Given the description of an element on the screen output the (x, y) to click on. 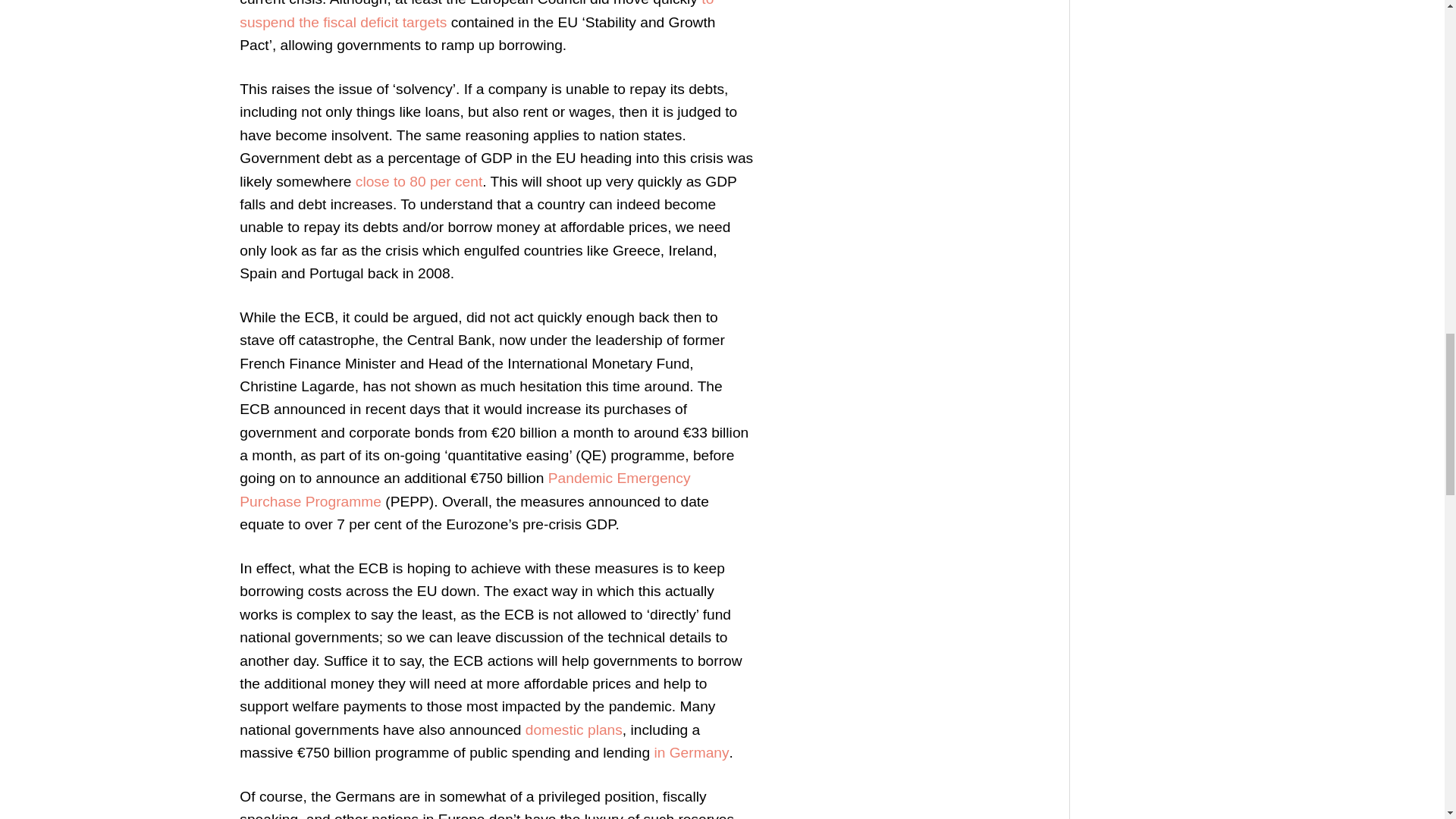
close to 80 per cent (418, 181)
to suspend the fiscal deficit targets (476, 14)
Pandemic Emergency Purchase Programme (465, 489)
in Germany (691, 752)
domestic plans (574, 729)
